Given the description of an element on the screen output the (x, y) to click on. 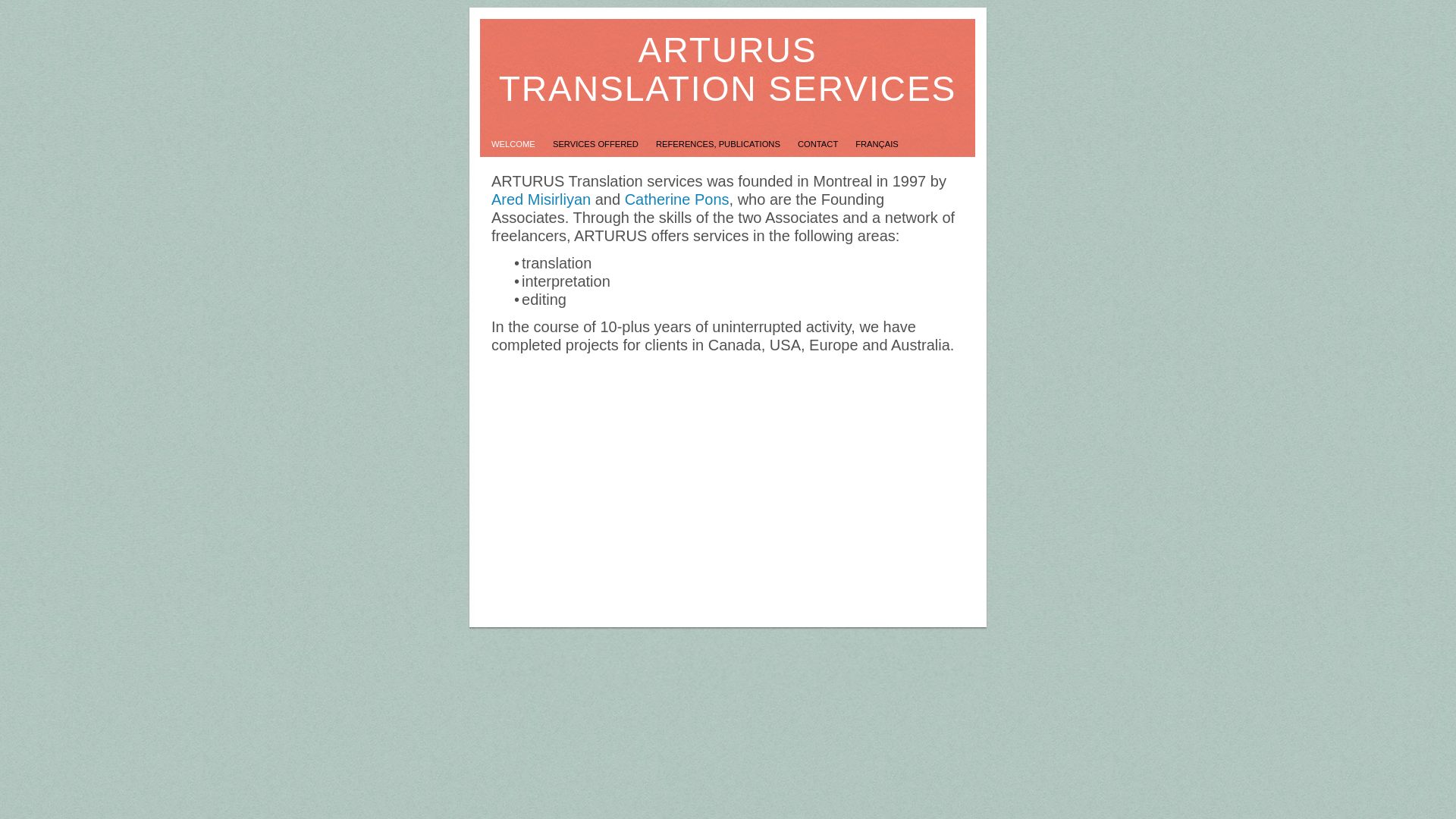
Ared Misirliyan Element type: text (540, 199)
Catherine Pons Element type: text (676, 199)
WELCOME Element type: text (514, 143)
SERVICES OFFERED Element type: text (596, 143)
REFERENCES, PUBLICATIONS Element type: text (718, 143)
CONTACT Element type: text (818, 143)
